Given the description of an element on the screen output the (x, y) to click on. 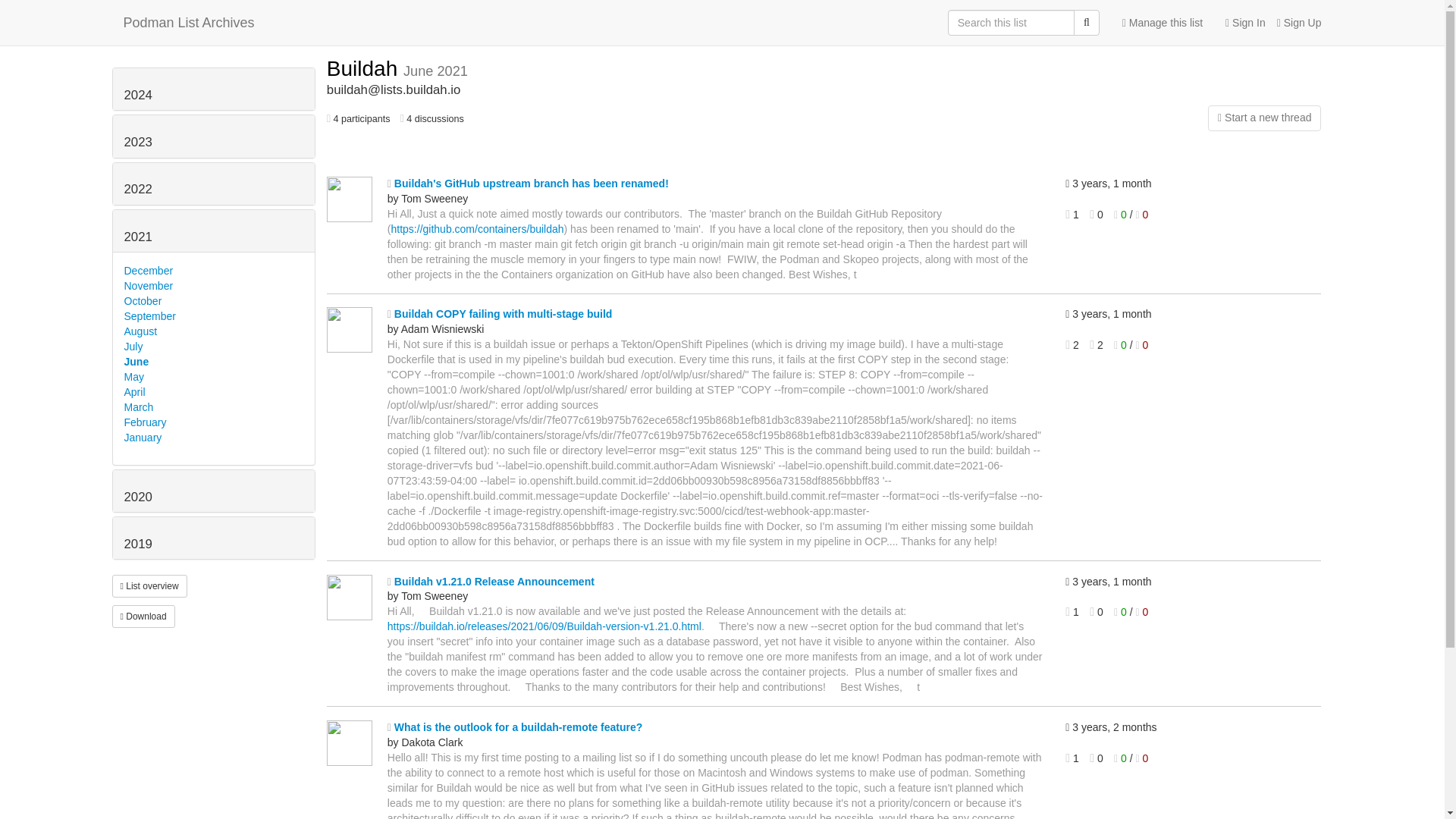
2023 (137, 142)
You must be logged-in to vote. (1141, 345)
2024 (137, 94)
Sign In (1239, 22)
This month in gzipped mbox format (143, 616)
You must be logged-in to vote. (1121, 214)
Sign Up (1293, 22)
You must be logged-in to vote. (1141, 214)
Monday, 28 June 2021 10:46:08 (1180, 314)
You must be logged-in to vote. (1121, 345)
You must be logged-in to vote. (1121, 612)
You must be logged-in to create a thread. (1162, 118)
2022 (137, 188)
You must be logged-in to vote. (1141, 612)
Wednesday, 30 June 2021 12:14:16 (1180, 183)
